Given the description of an element on the screen output the (x, y) to click on. 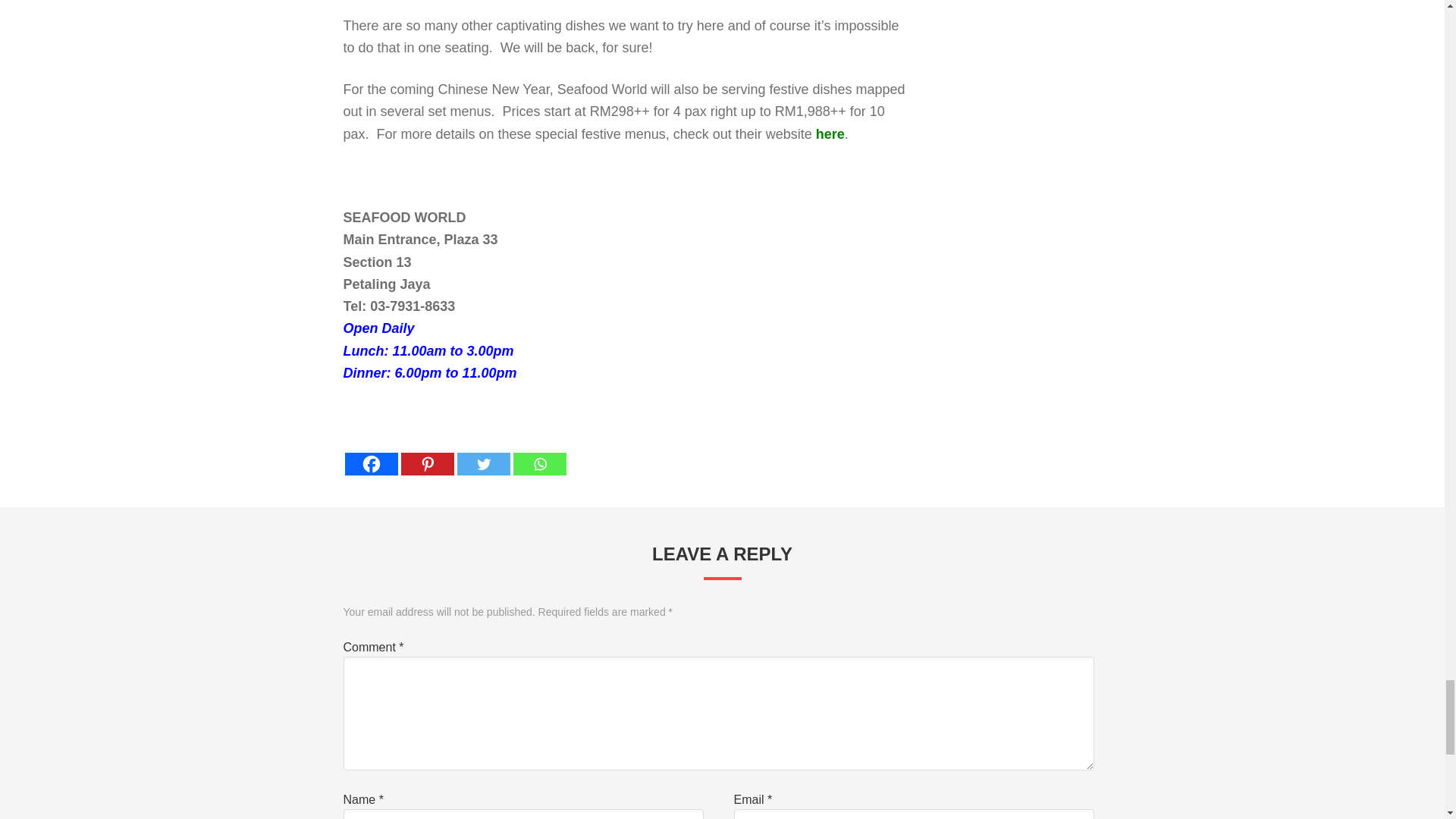
Whatsapp (539, 451)
Twitter (483, 451)
Facebook (370, 451)
here (829, 133)
Pinterest (426, 451)
